Given the description of an element on the screen output the (x, y) to click on. 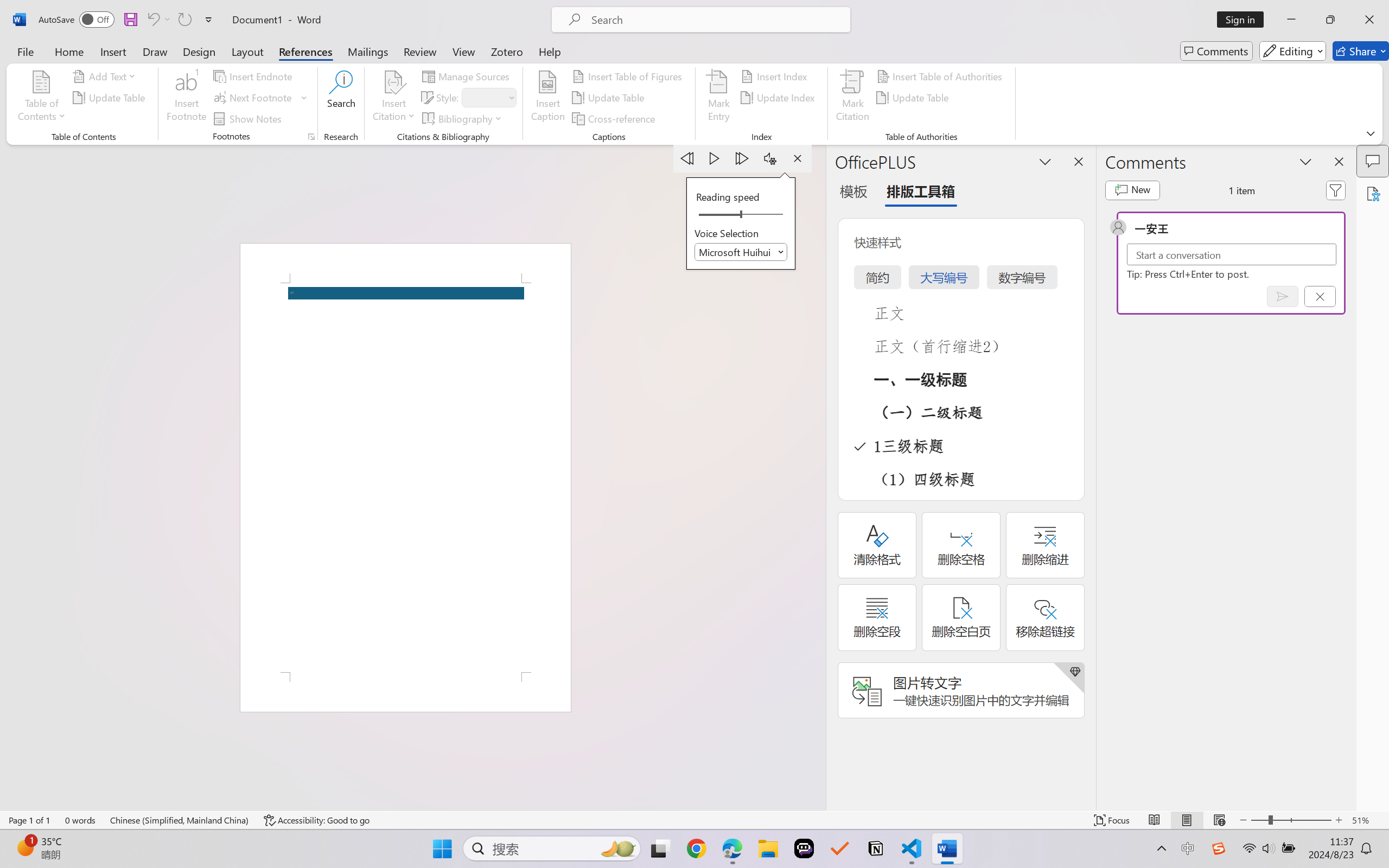
Bibliography (463, 118)
Update Table (914, 97)
Next Footnote (253, 97)
Page left (716, 214)
